Given the description of an element on the screen output the (x, y) to click on. 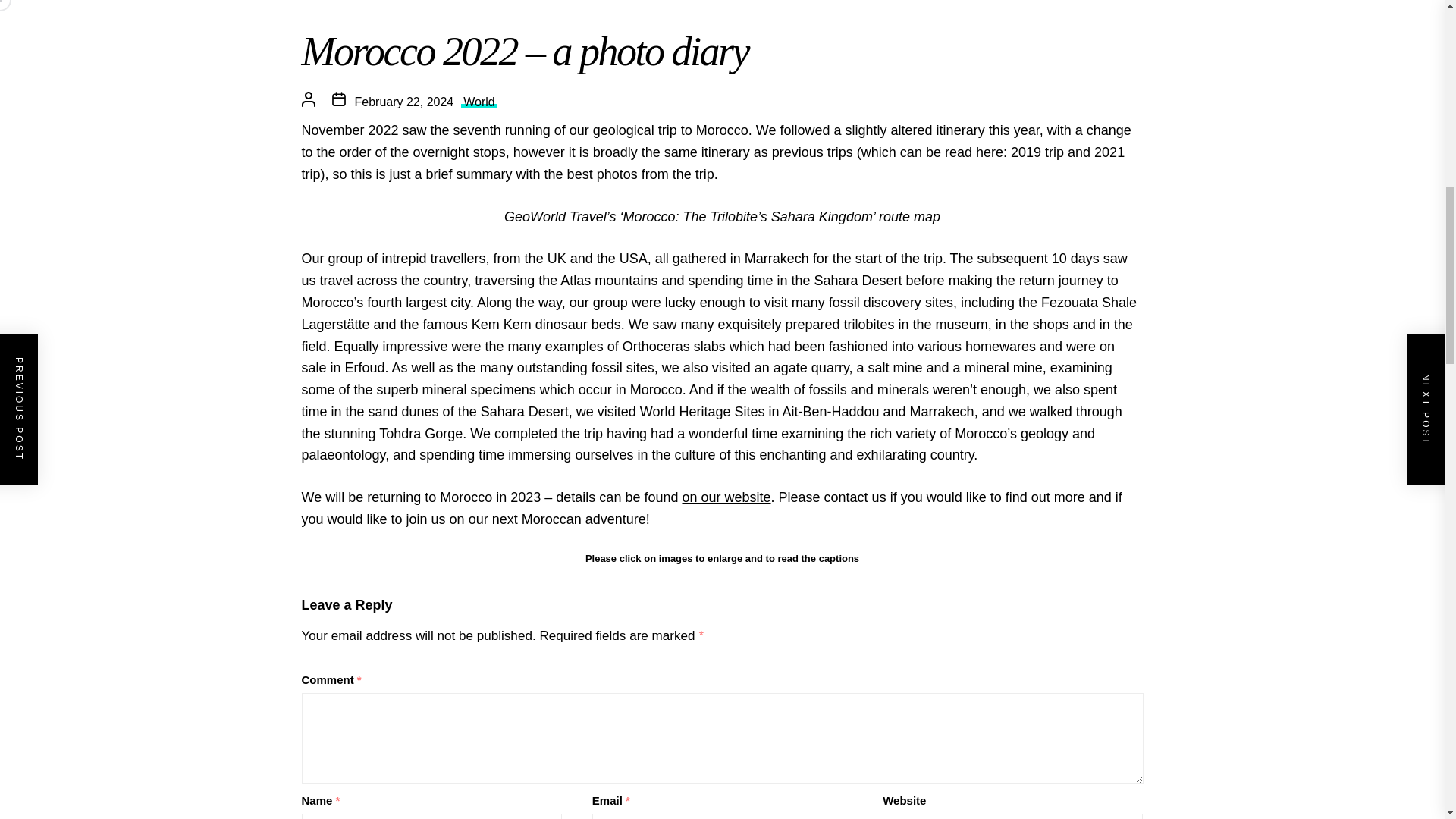
World (479, 101)
2021 trip (713, 162)
on our website (725, 497)
2019 trip (1037, 151)
February 22, 2024 (404, 101)
